Given the description of an element on the screen output the (x, y) to click on. 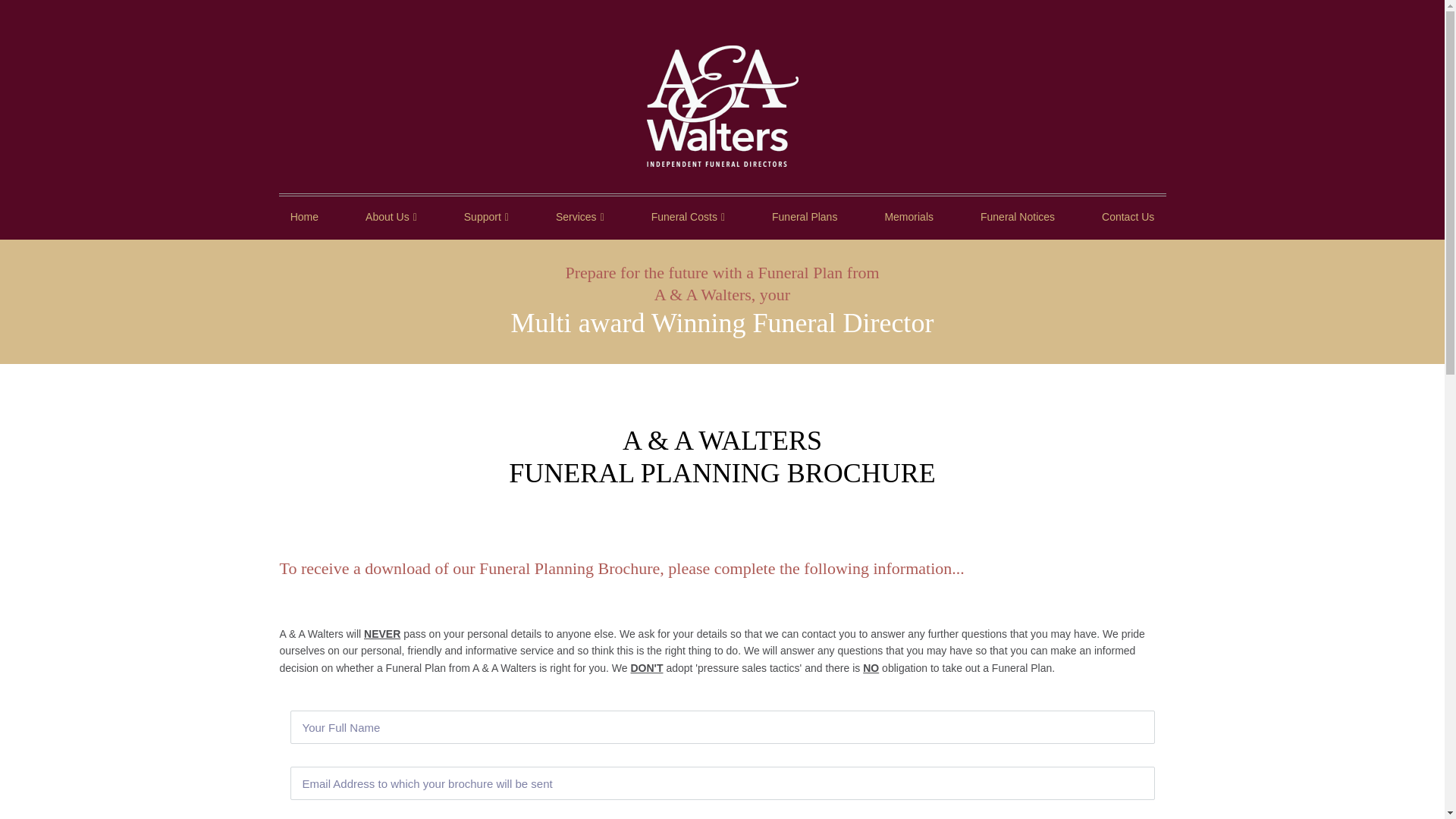
Funeral Plans (804, 217)
Home (304, 217)
Services (580, 217)
Memorials (908, 217)
About Us (390, 217)
Funeral Notices (1016, 217)
Click for Home (721, 106)
Support (486, 217)
Funeral Costs (687, 217)
